Given the description of an element on the screen output the (x, y) to click on. 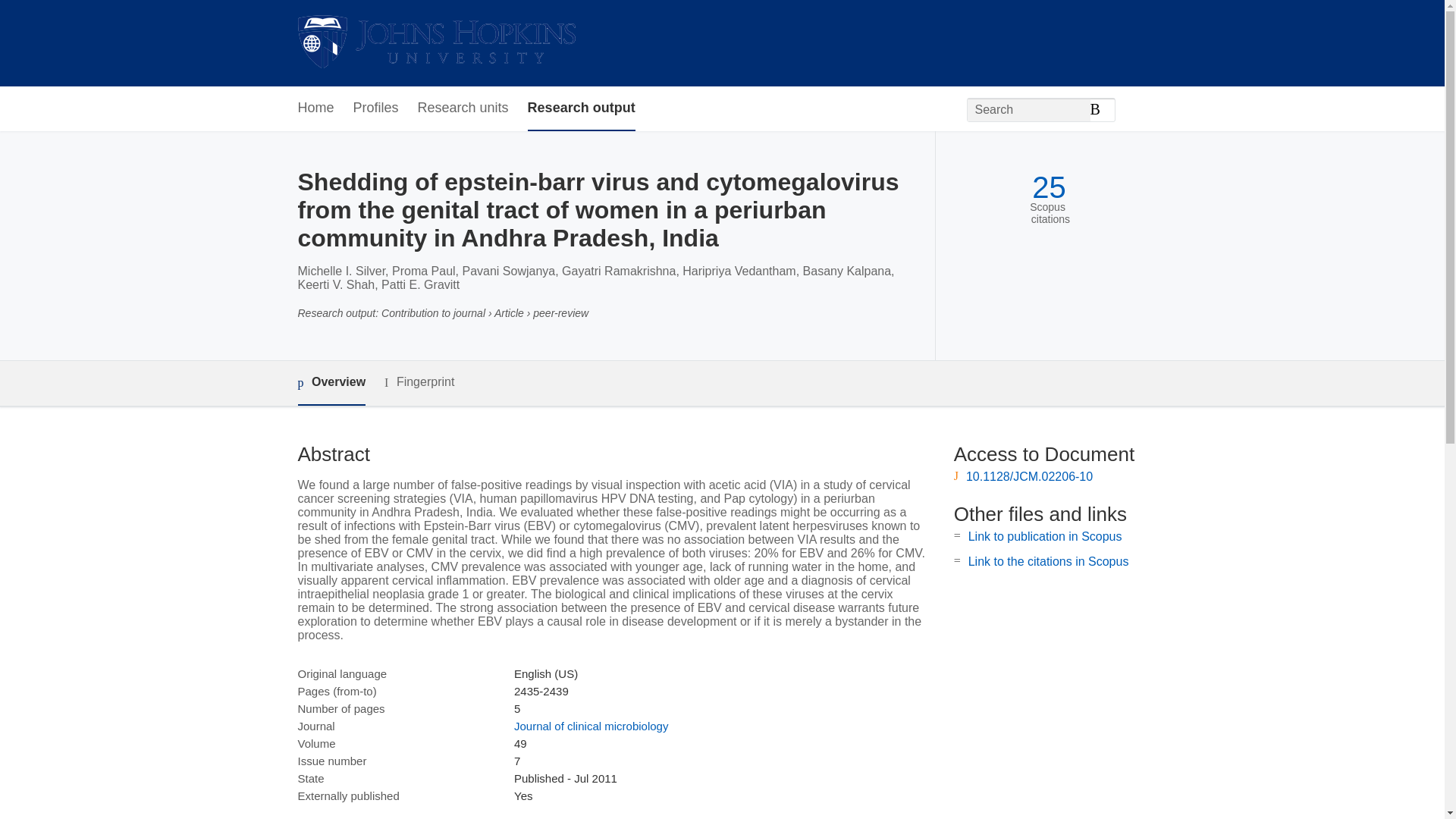
Fingerprint (419, 382)
Link to the citations in Scopus (1048, 561)
Link to publication in Scopus (1045, 535)
Research units (462, 108)
Journal of clinical microbiology (590, 725)
Research output (580, 108)
Overview (331, 383)
Johns Hopkins University Home (436, 43)
Profiles (375, 108)
